Given the description of an element on the screen output the (x, y) to click on. 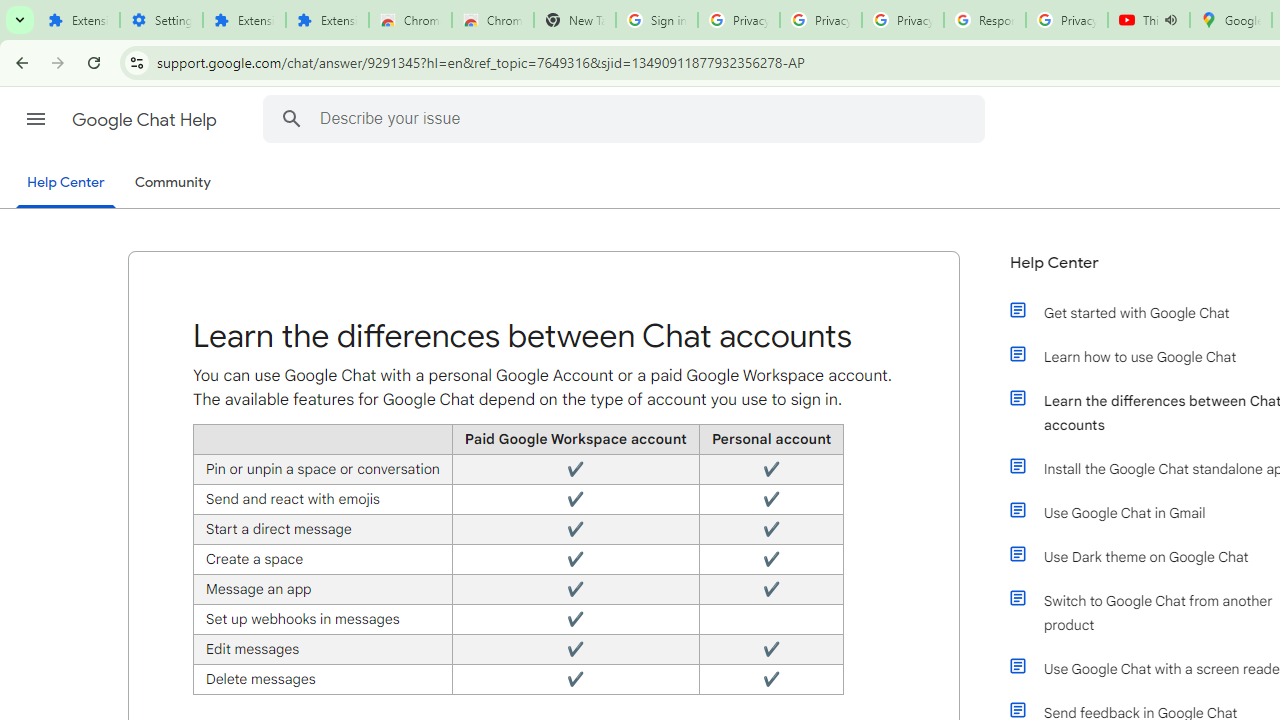
Describe your issue (626, 118)
Chrome Web Store - Themes (492, 20)
New Tab (574, 20)
Chrome Web Store (409, 20)
Google Chat Help (146, 119)
Community (171, 183)
Extensions (326, 20)
